Given the description of an element on the screen output the (x, y) to click on. 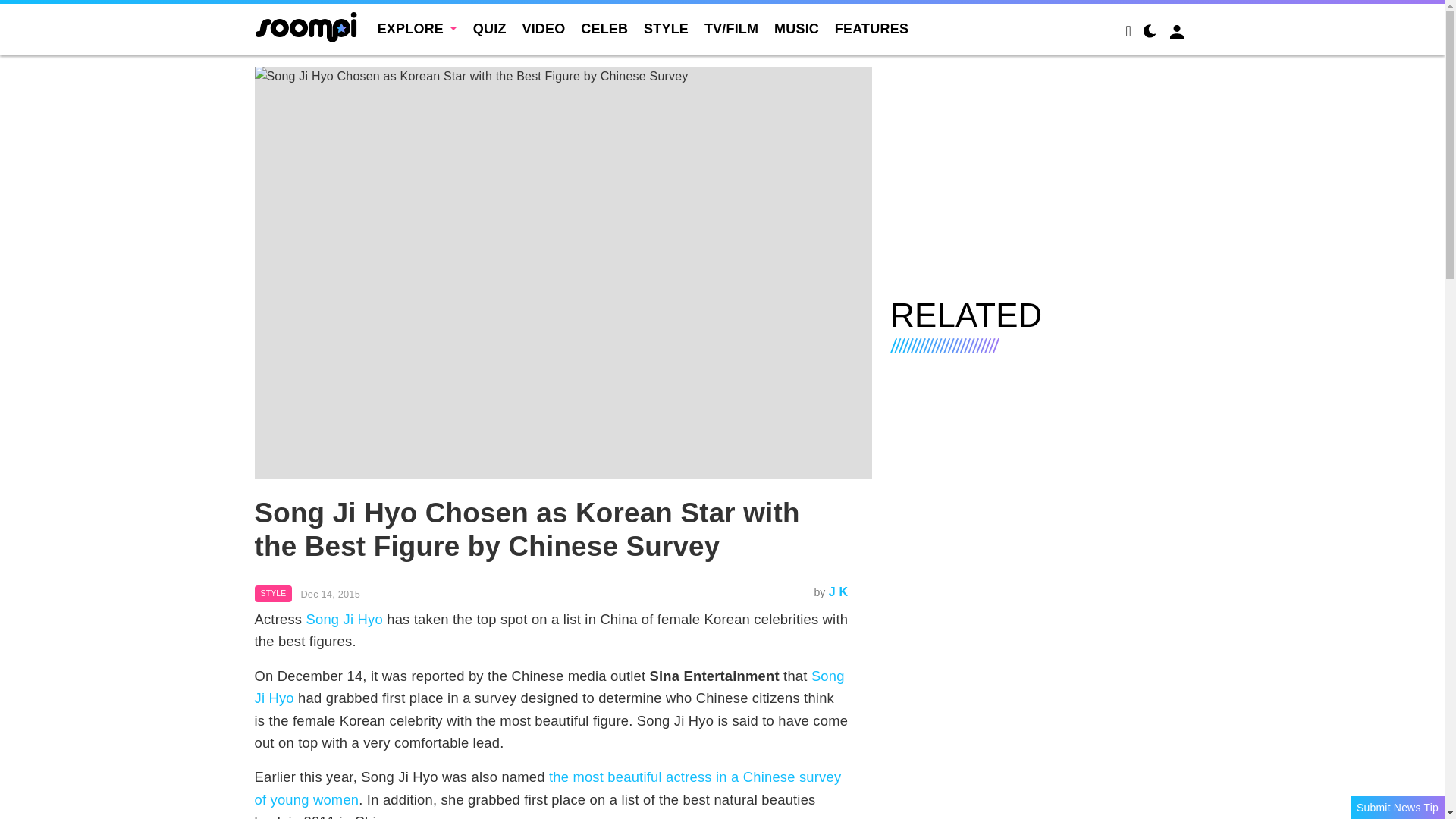
Song Ji Hyo (343, 618)
STYLE (665, 28)
QUIZ (489, 28)
CELEB (603, 28)
Style (273, 593)
STYLE (273, 593)
VIDEO (542, 28)
EXPLORE (417, 28)
J K (838, 591)
